Given the description of an element on the screen output the (x, y) to click on. 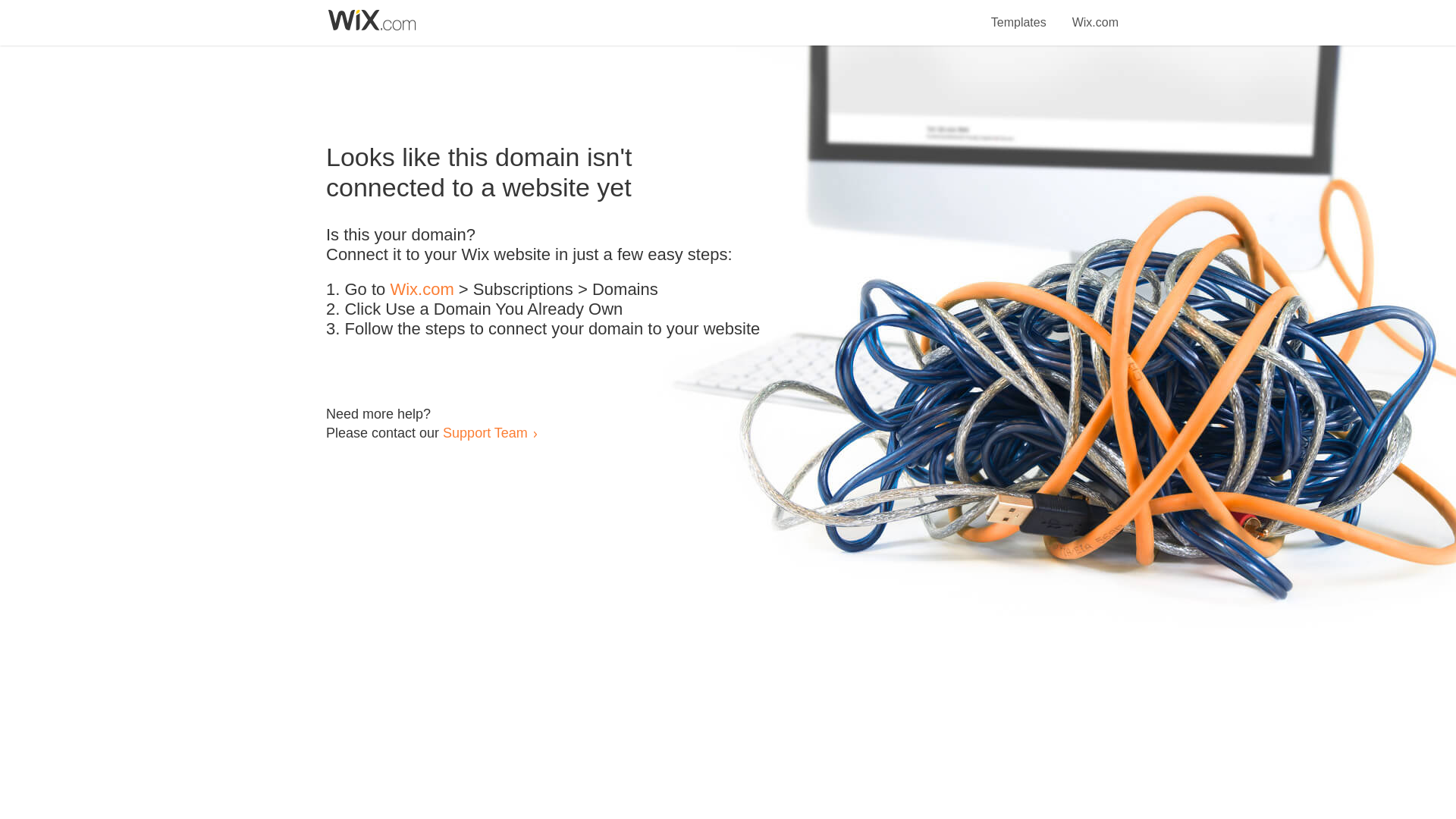
Wix.com (421, 289)
Support Team (484, 432)
Templates (1018, 14)
Wix.com (1095, 14)
